Given the description of an element on the screen output the (x, y) to click on. 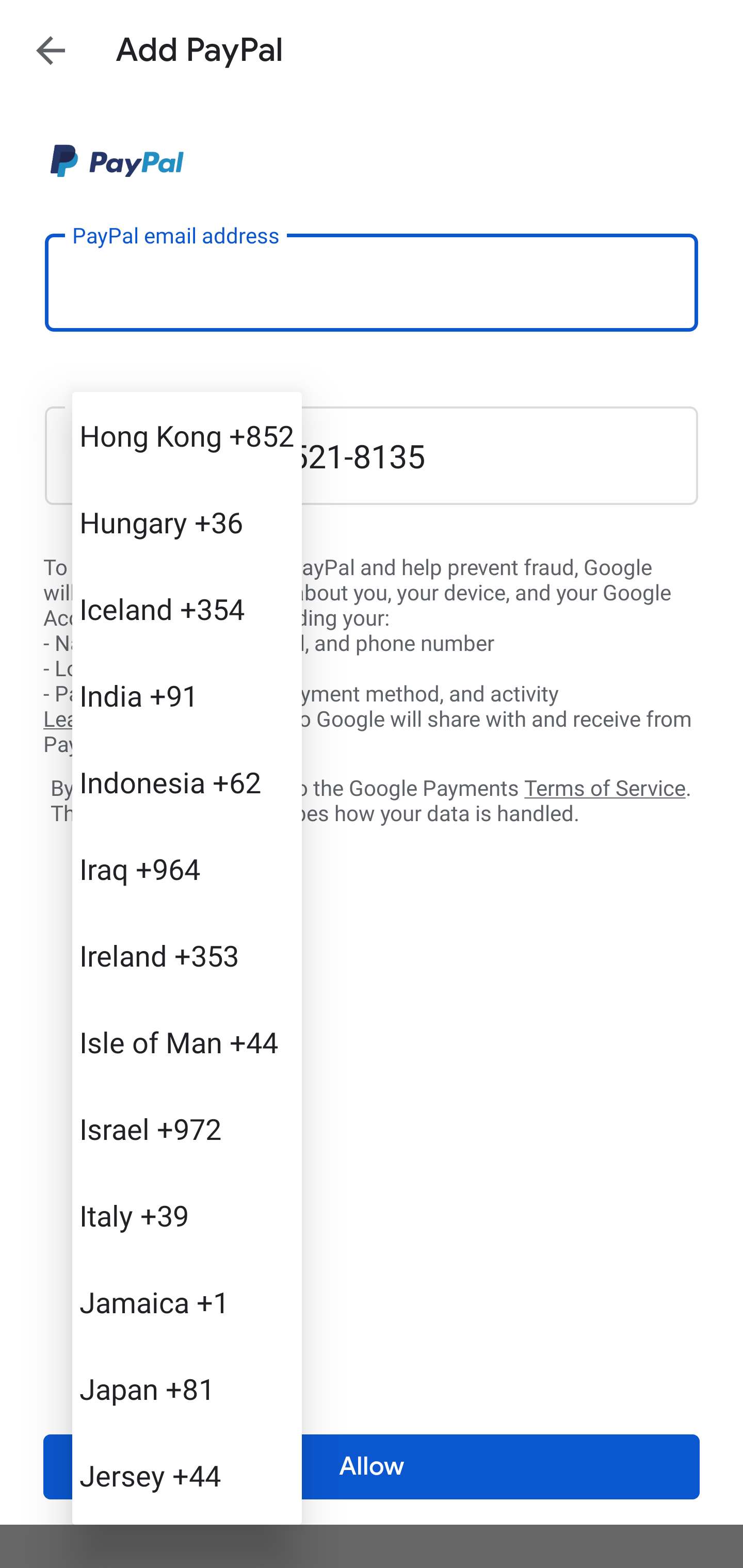
Hong Kong +852 (186, 435)
Hungary +36 (186, 522)
Iceland +354 (186, 609)
India +91 (186, 695)
Indonesia +62 (186, 781)
Iraq +964 (186, 868)
Ireland +353 (186, 955)
Isle of Man +44 (186, 1041)
Israel +972 (186, 1128)
Italy +39 (186, 1215)
Jamaica +1 (186, 1302)
Japan +81 (186, 1388)
Jersey +44 (186, 1474)
